Given the description of an element on the screen output the (x, y) to click on. 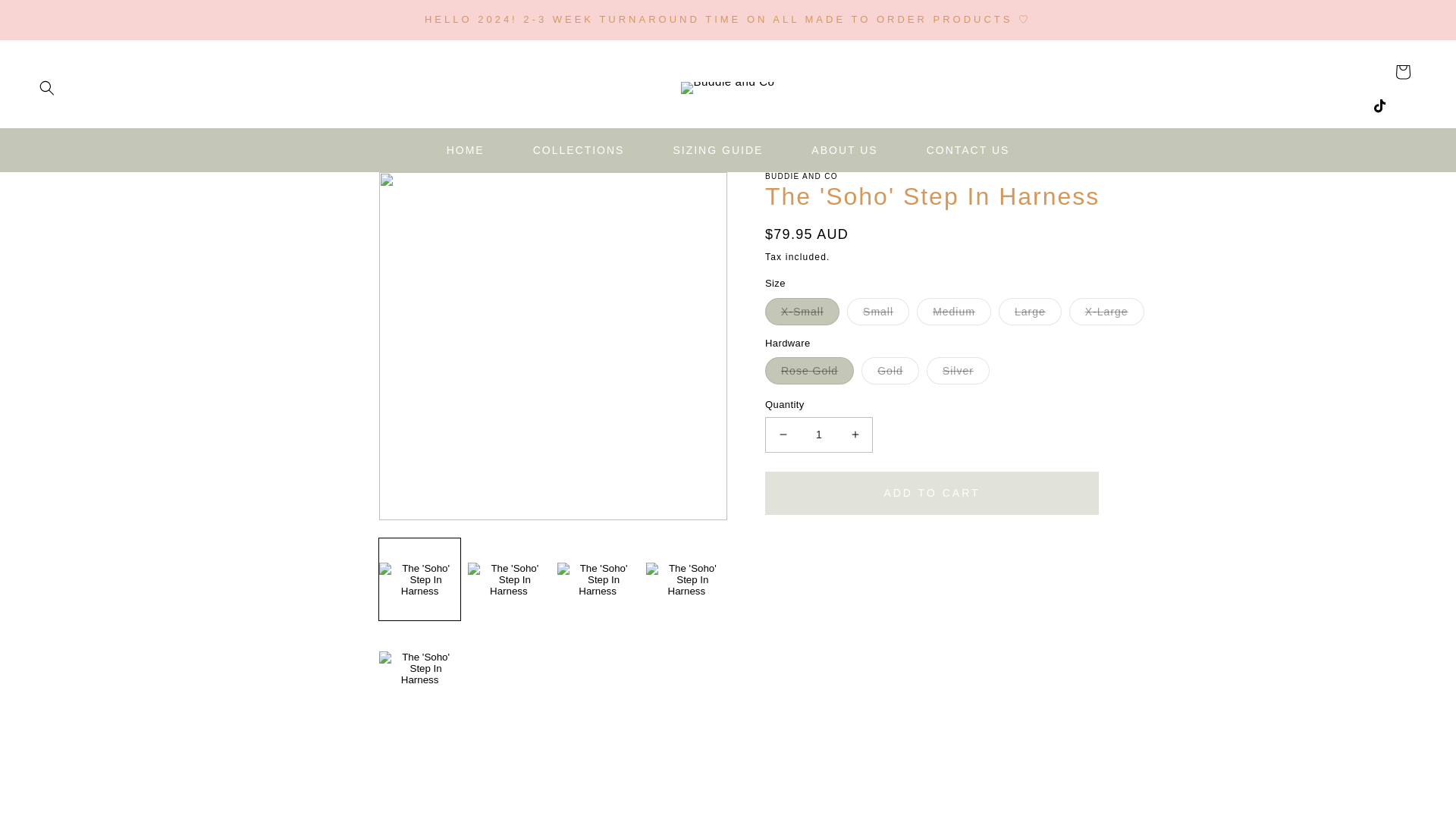
1 (818, 434)
SKIP TO CONTENT (45, 16)
ABOUT US (844, 150)
CONTACT US (967, 150)
SIZING GUIDE (717, 150)
HOME (465, 150)
COLLECTIONS (578, 150)
Cart (1402, 71)
